Given the description of an element on the screen output the (x, y) to click on. 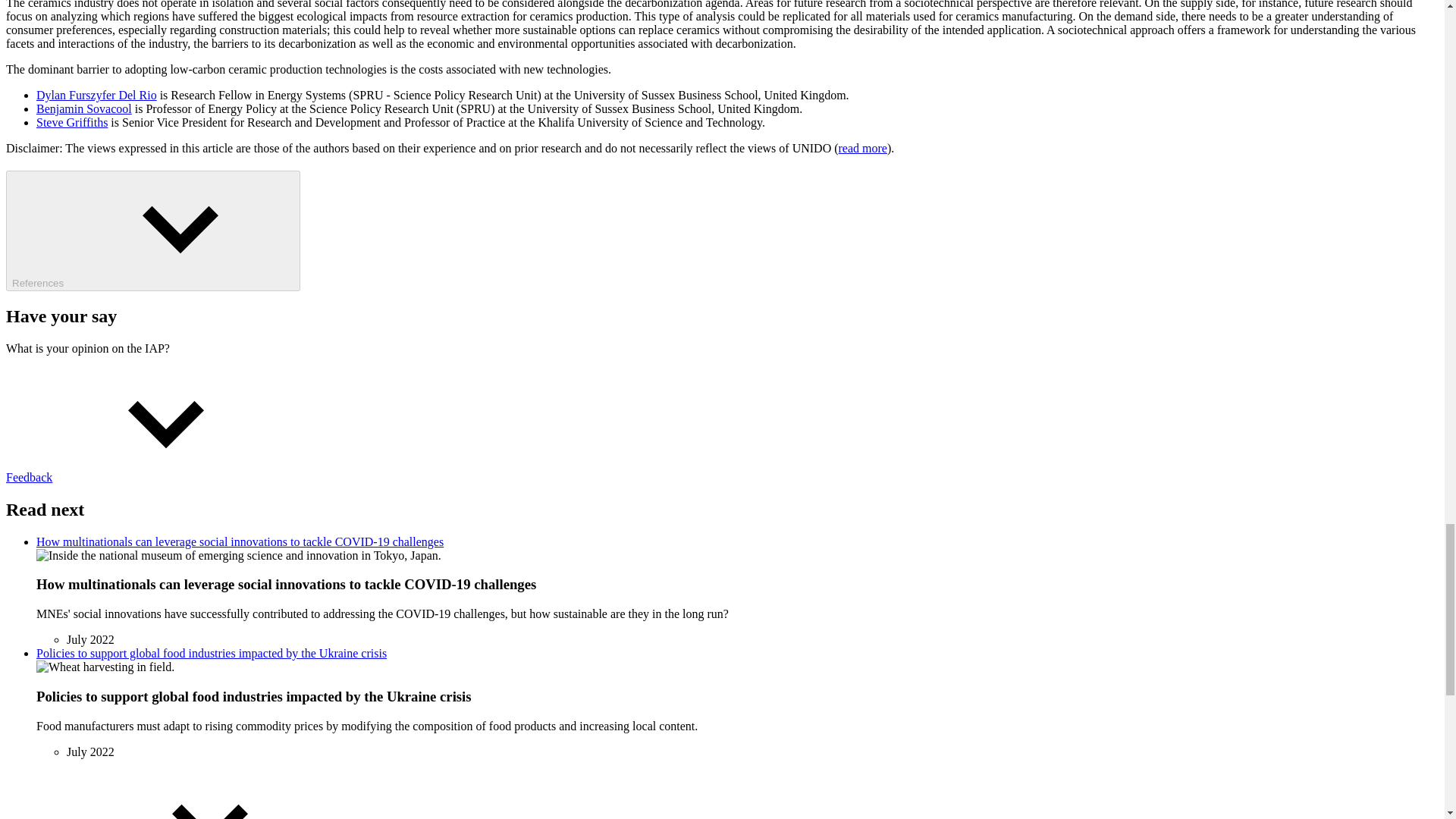
Feedback (142, 477)
References (152, 230)
Steve Griffiths (71, 122)
read more (862, 147)
Dylan Furszyfer Del Rio (96, 94)
Benjamin Sovacool (84, 108)
